Given the description of an element on the screen output the (x, y) to click on. 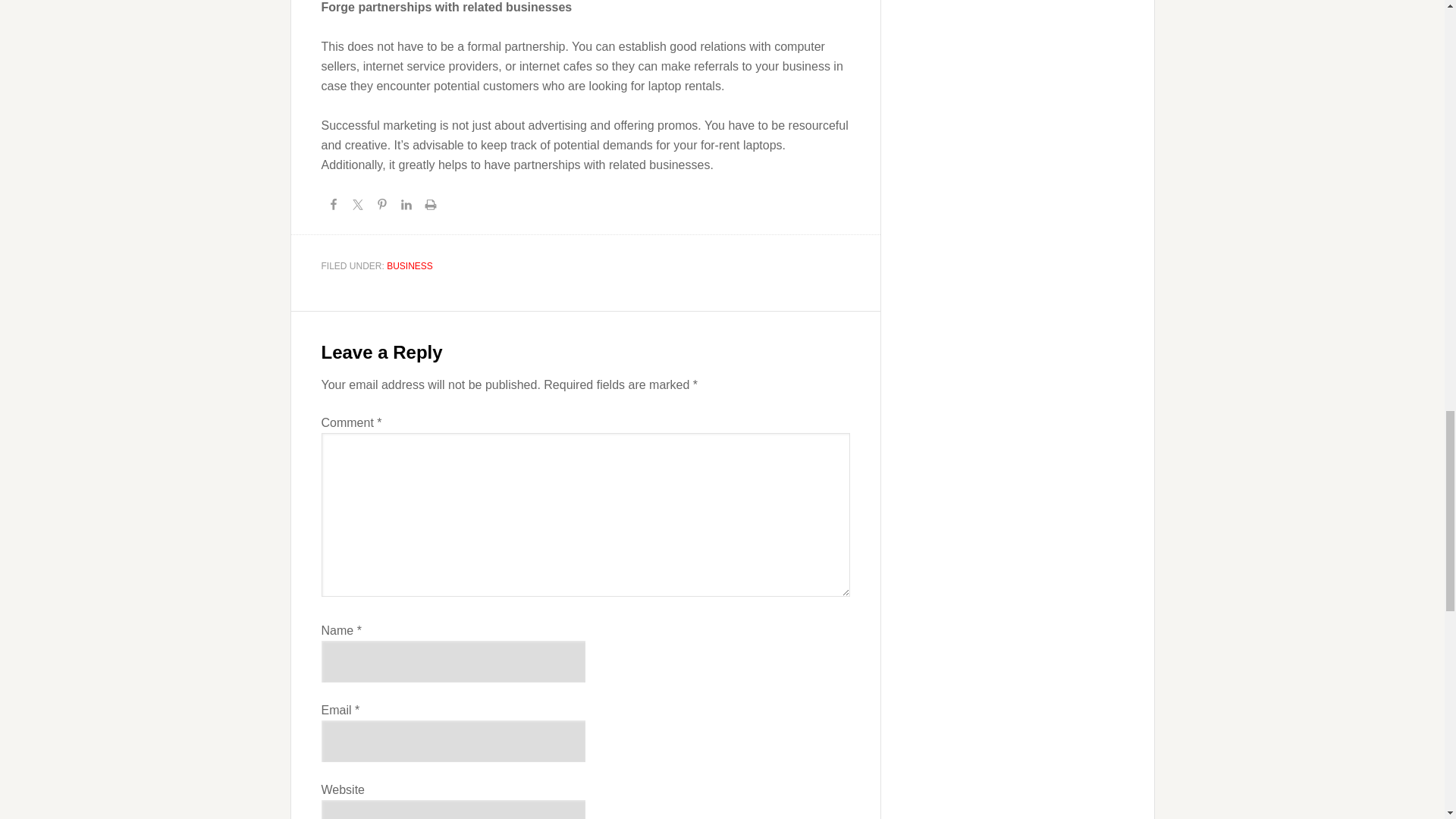
Share on Facebook (333, 206)
Print this Page (430, 206)
Share on Twitter (357, 206)
Share on Pinterest (381, 206)
Share on LinkedIn (406, 206)
BUSINESS (409, 266)
